Given the description of an element on the screen output the (x, y) to click on. 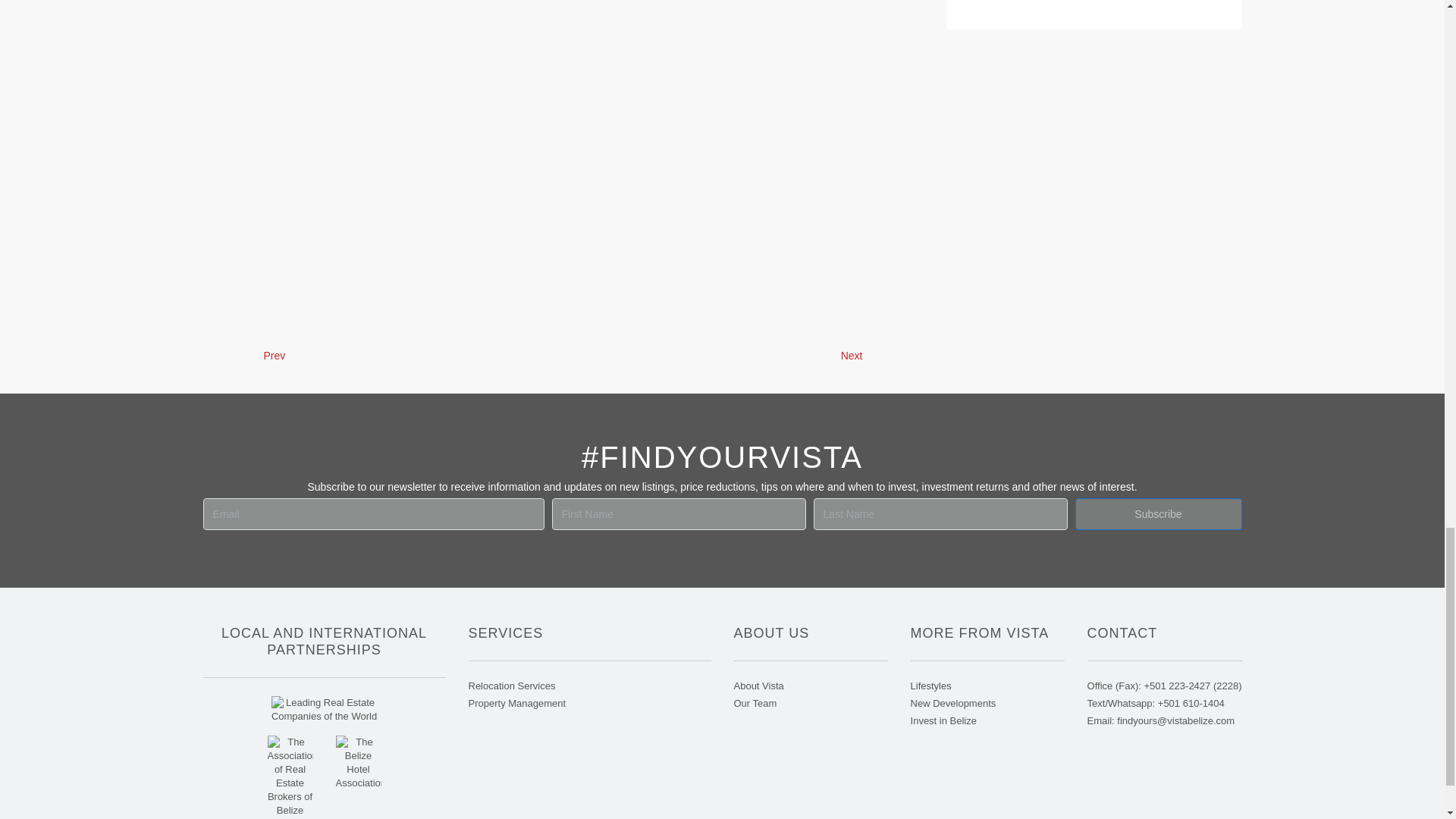
Subscribe (1158, 513)
